Given the description of an element on the screen output the (x, y) to click on. 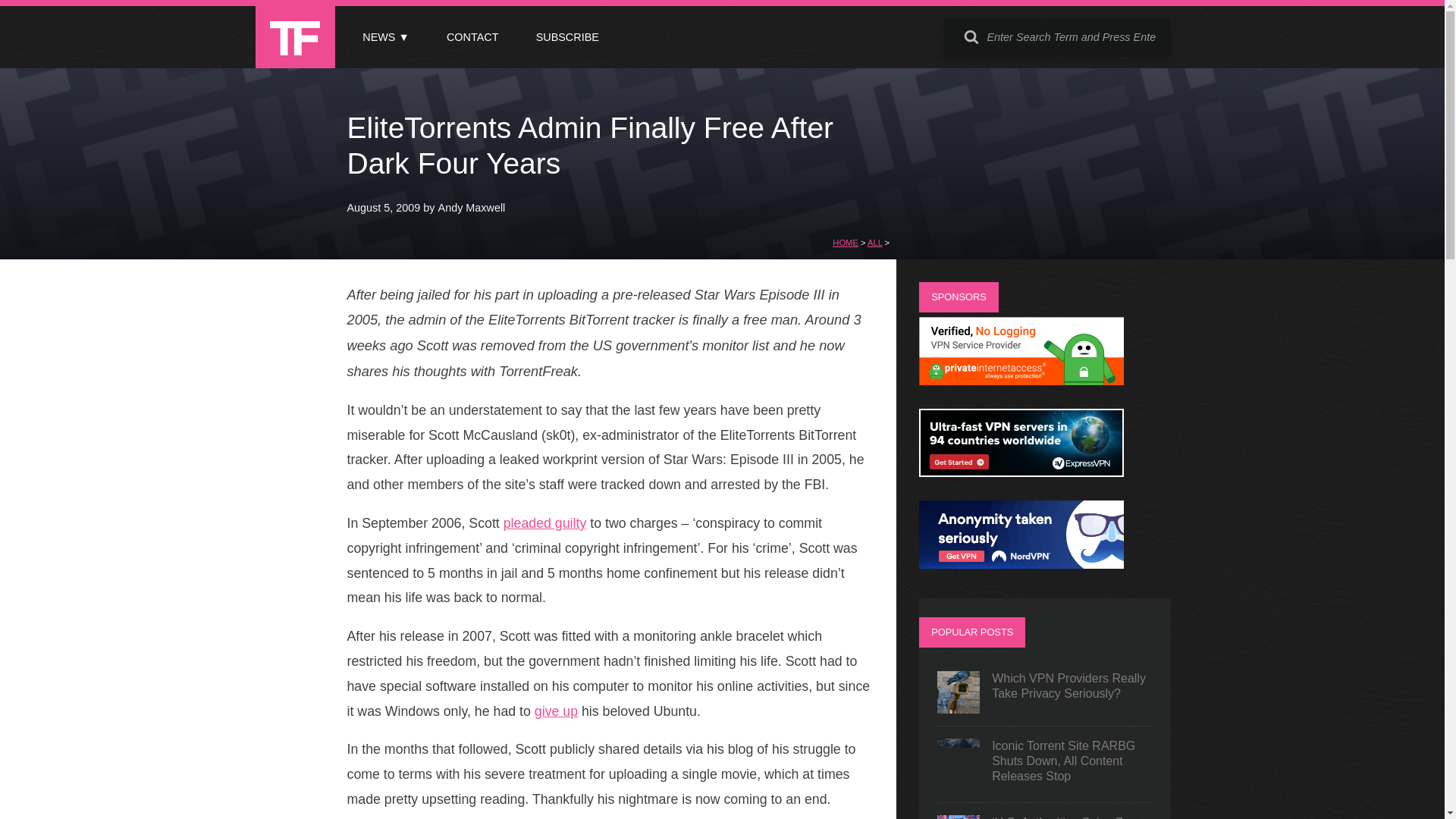
Andy Maxwell (471, 207)
Private Internet Access (1021, 380)
ALL (874, 242)
CONTACT (471, 37)
pleaded guilty (544, 522)
give up (556, 711)
ExpressVPN (1021, 472)
Which VPN Providers Really Take Privacy Seriously? (1045, 691)
SUBSCRIBE (566, 37)
Go to TorrentFreak. (845, 242)
Go to the All category archives. (874, 242)
HOME (845, 242)
